Given the description of an element on the screen output the (x, y) to click on. 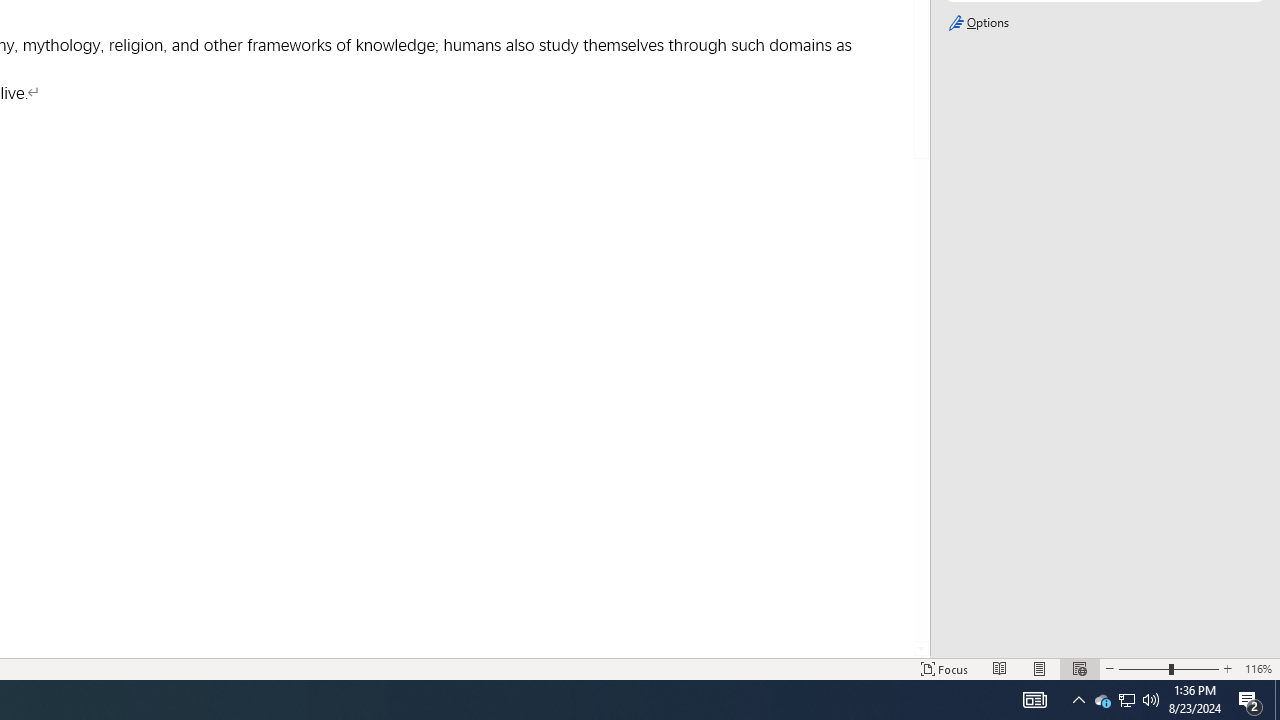
Web Layout (1079, 668)
Print Layout (1039, 668)
Options (1104, 23)
Zoom In (1227, 668)
Zoom Out (1143, 668)
Zoom 116% (1258, 668)
Focus  (944, 668)
Read Mode (1000, 668)
Zoom (1168, 668)
